Given the description of an element on the screen output the (x, y) to click on. 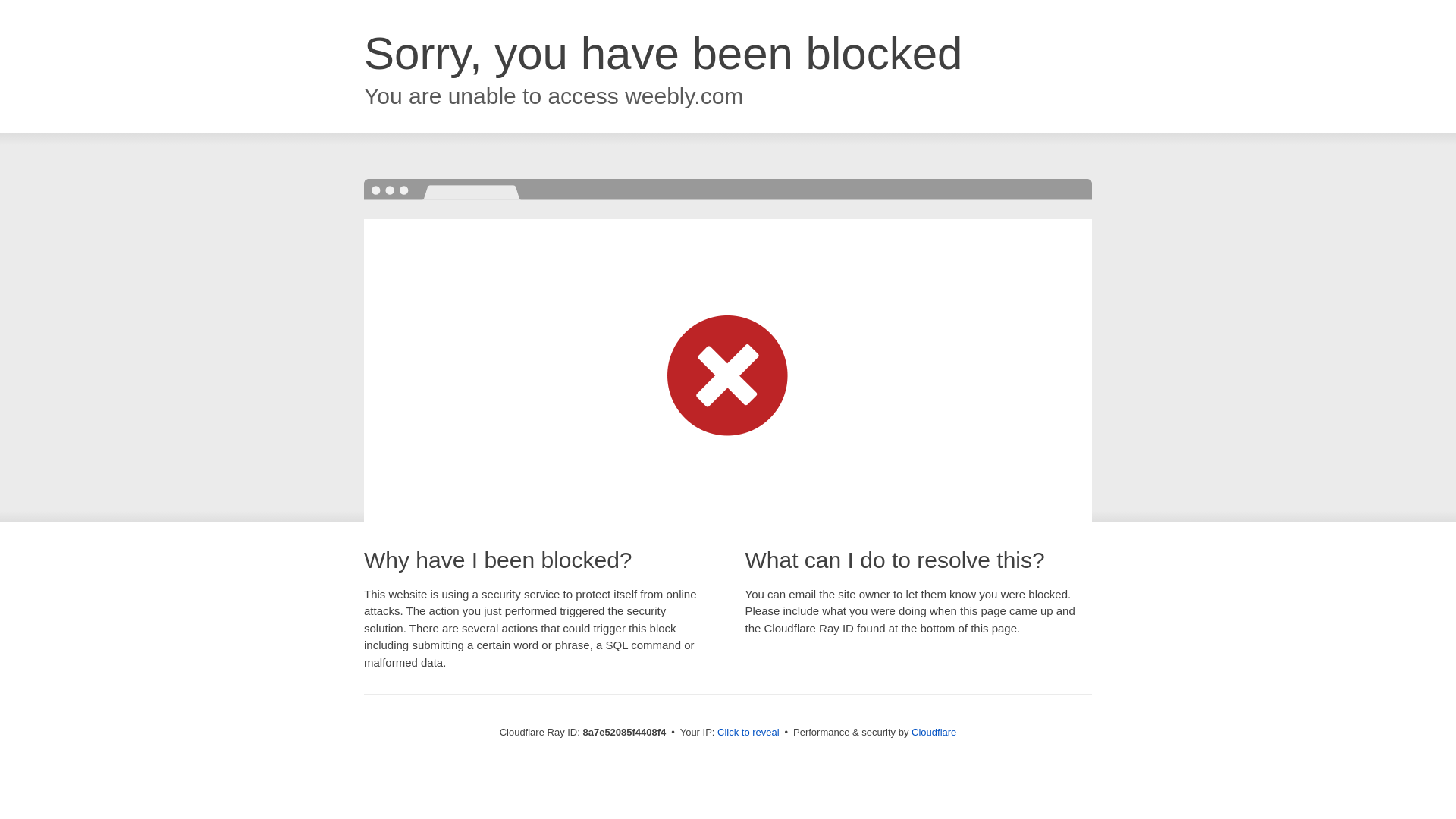
Cloudflare (933, 731)
Click to reveal (747, 732)
